Given the description of an element on the screen output the (x, y) to click on. 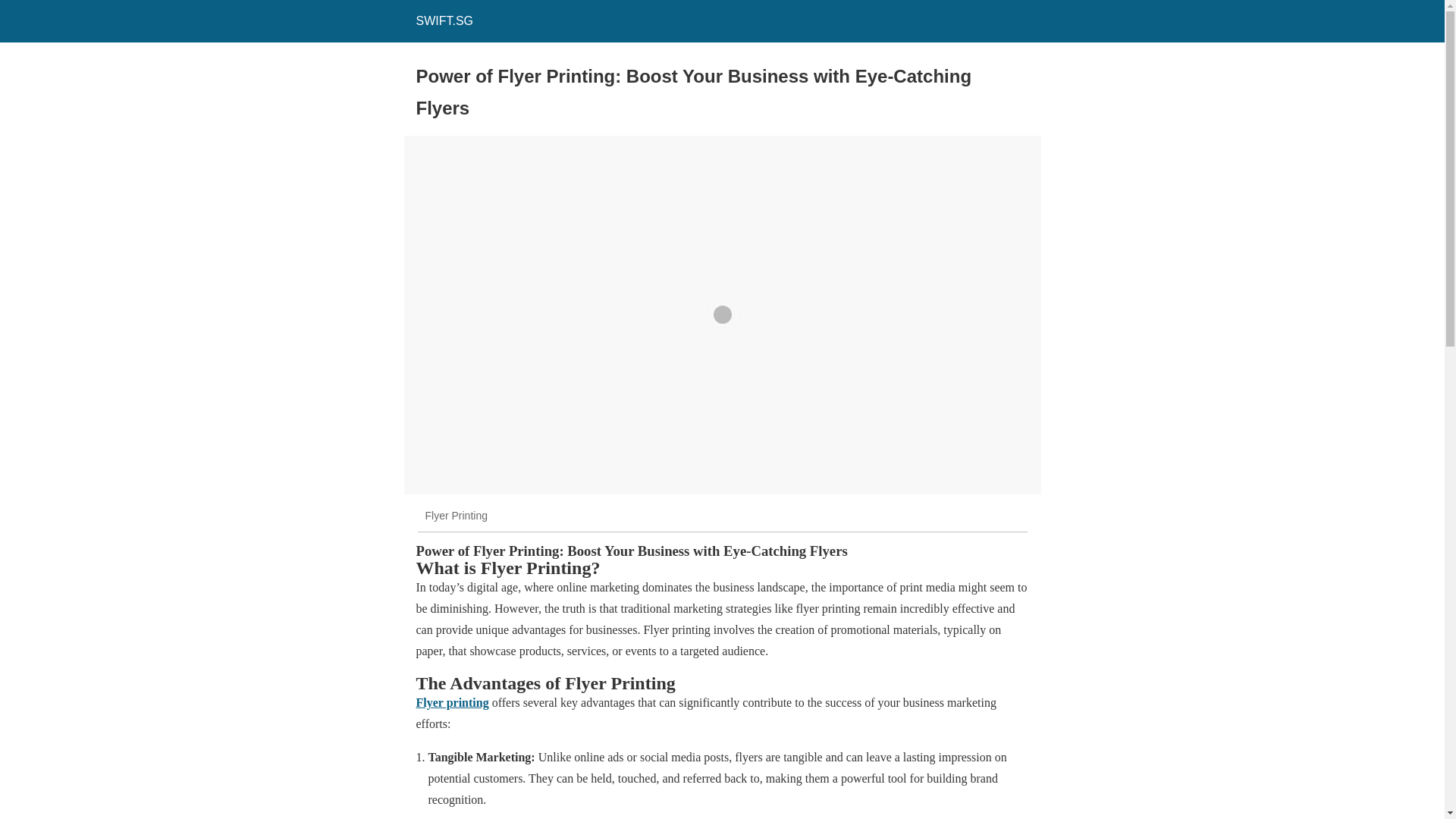
Flyer printing (450, 702)
SWIFT.SG (443, 20)
